Given the description of an element on the screen output the (x, y) to click on. 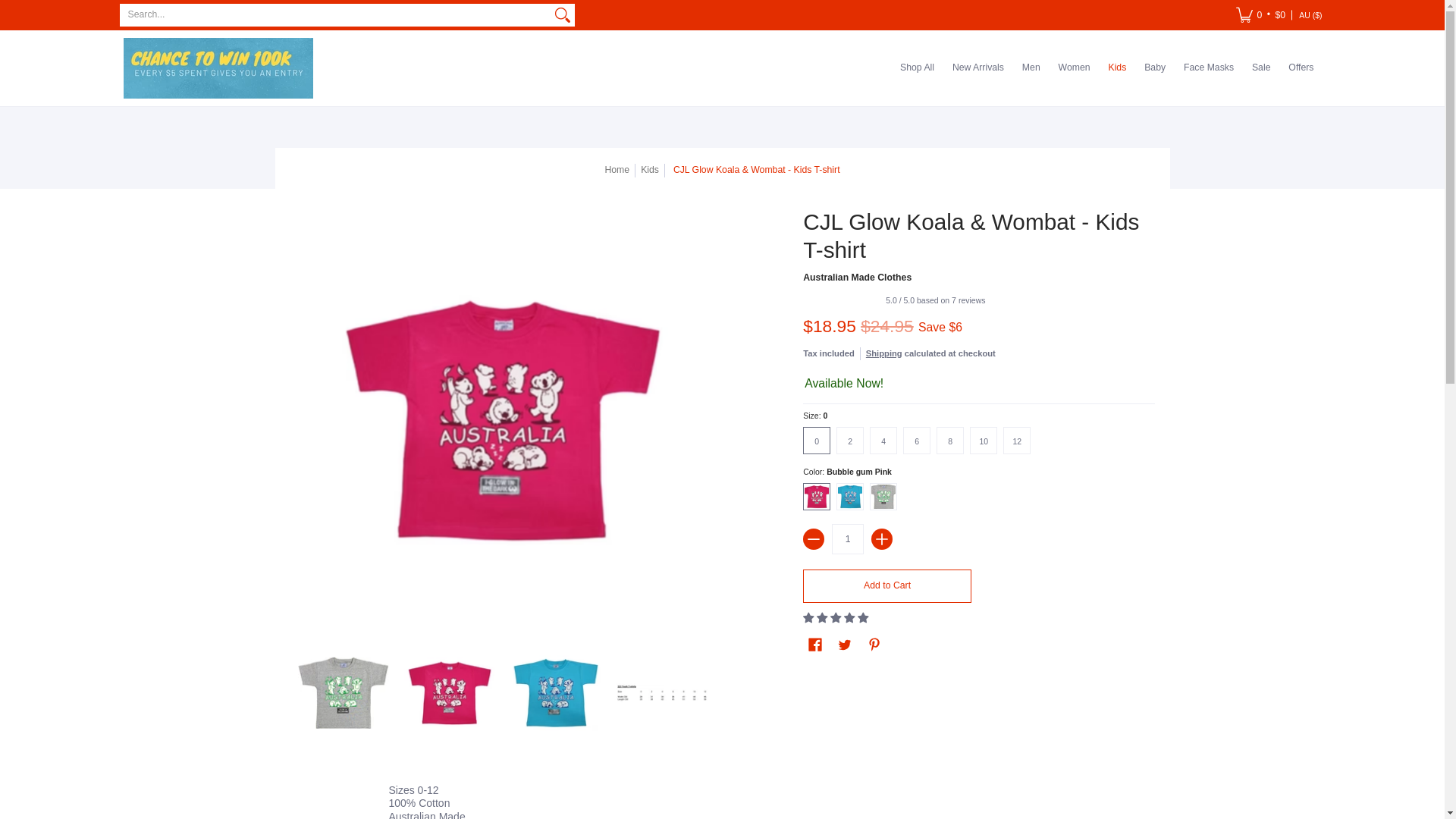
8 (952, 440)
Kids (649, 169)
Aqua (852, 496)
6 (919, 440)
10 (986, 440)
1 (847, 539)
Update store currency (1309, 15)
Home (616, 169)
Cart (1260, 15)
Grey Marle (885, 496)
